Given the description of an element on the screen output the (x, y) to click on. 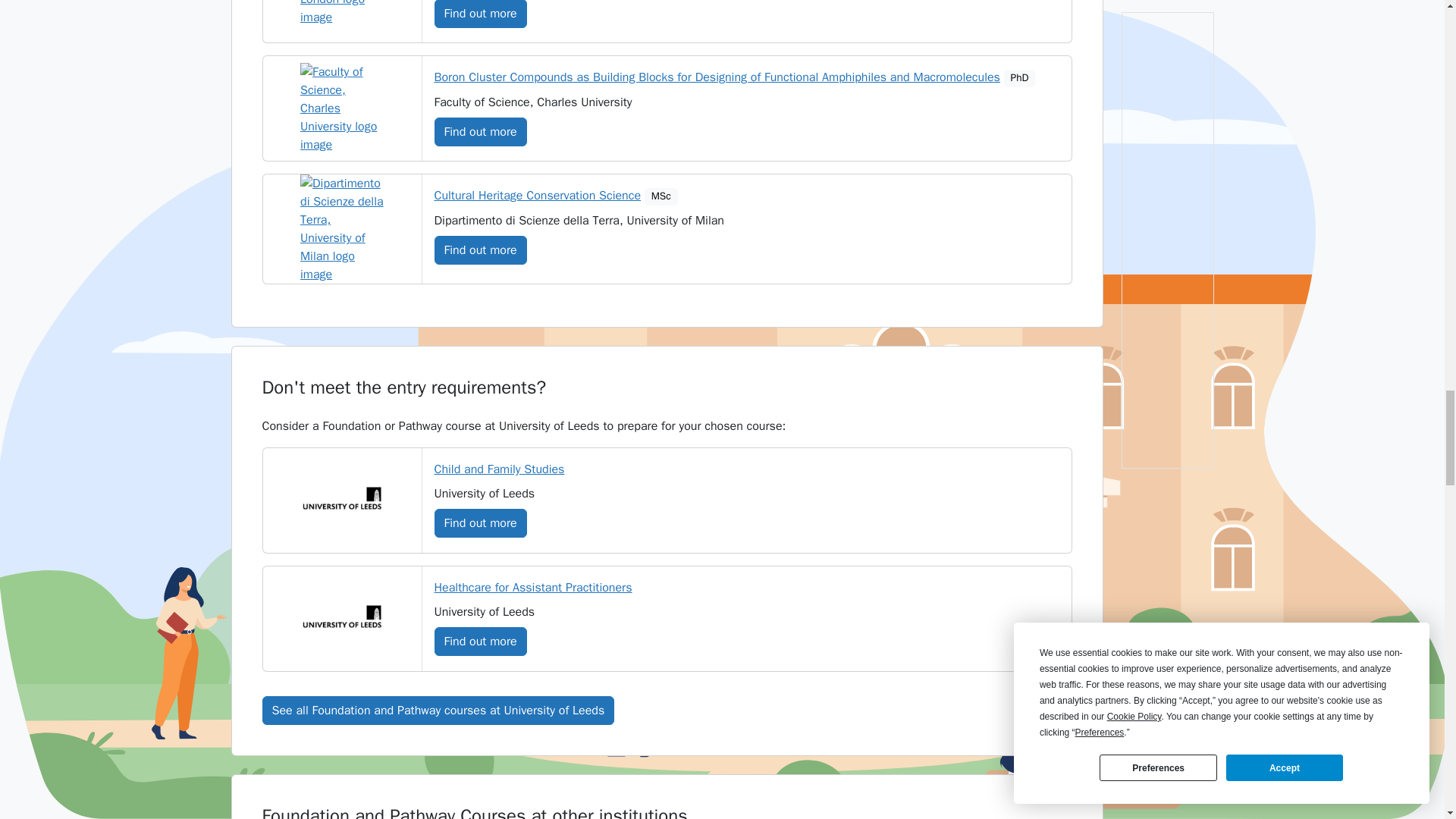
University of Leeds (341, 500)
SOAS University of London (341, 13)
University of Leeds (341, 619)
Faculty of Science, Charles University (341, 108)
